Given the description of an element on the screen output the (x, y) to click on. 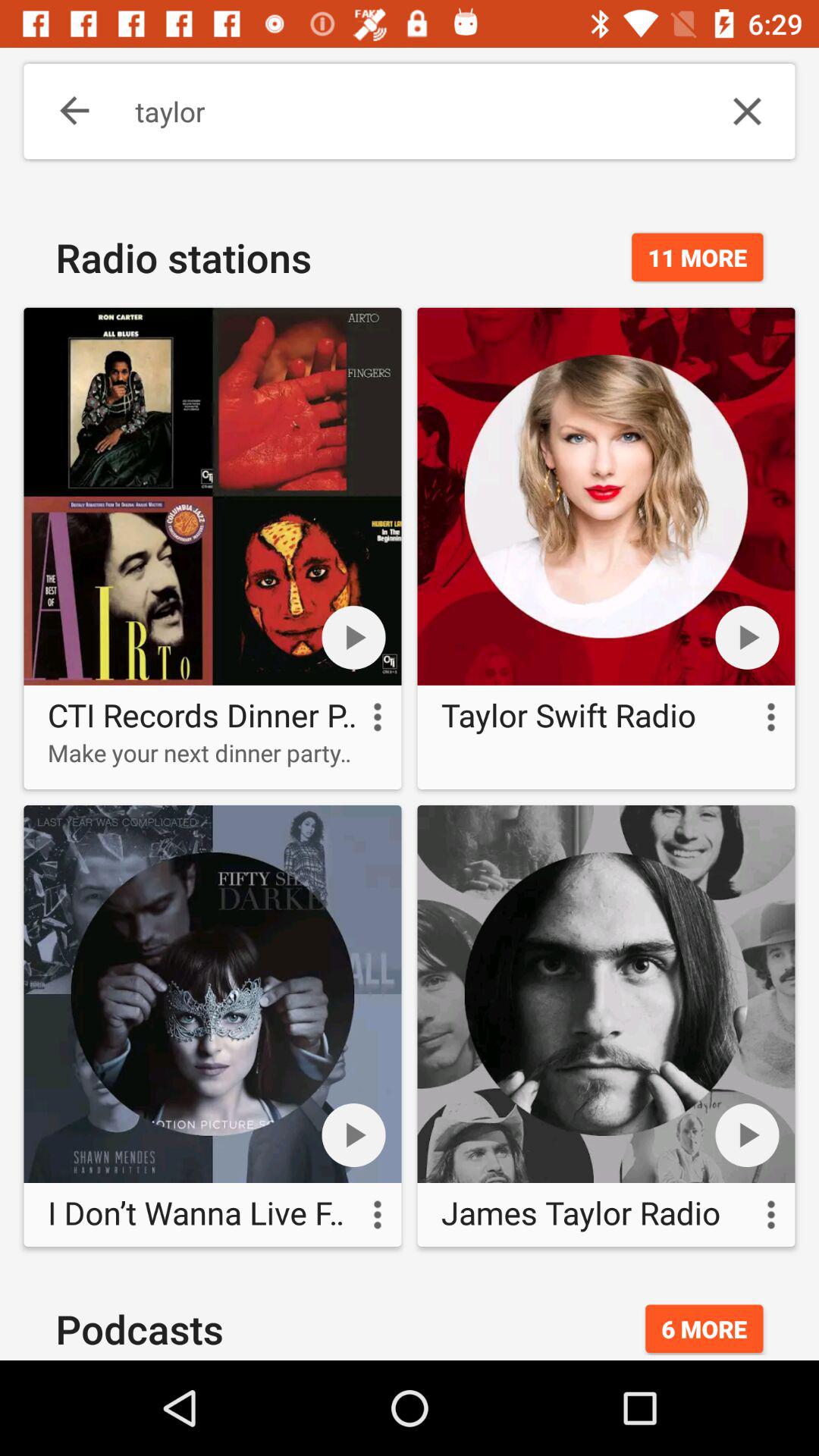
launch the icon to the right of the radio stations item (697, 257)
